Given the description of an element on the screen output the (x, y) to click on. 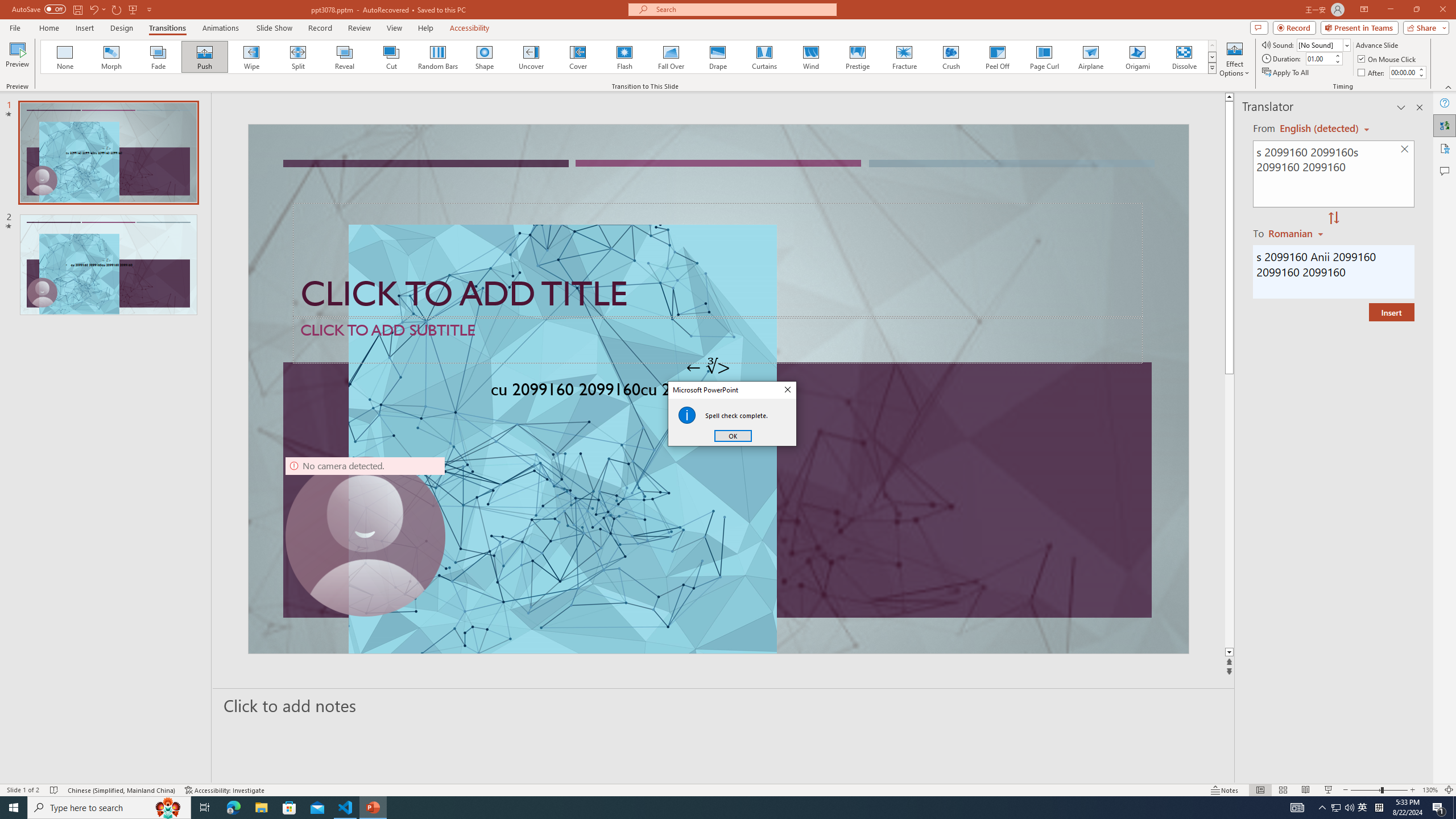
Origami (1136, 56)
Zoom 130% (1430, 790)
Fade (158, 56)
Curtains (764, 56)
Subtitle TextBox (717, 339)
